Given the description of an element on the screen output the (x, y) to click on. 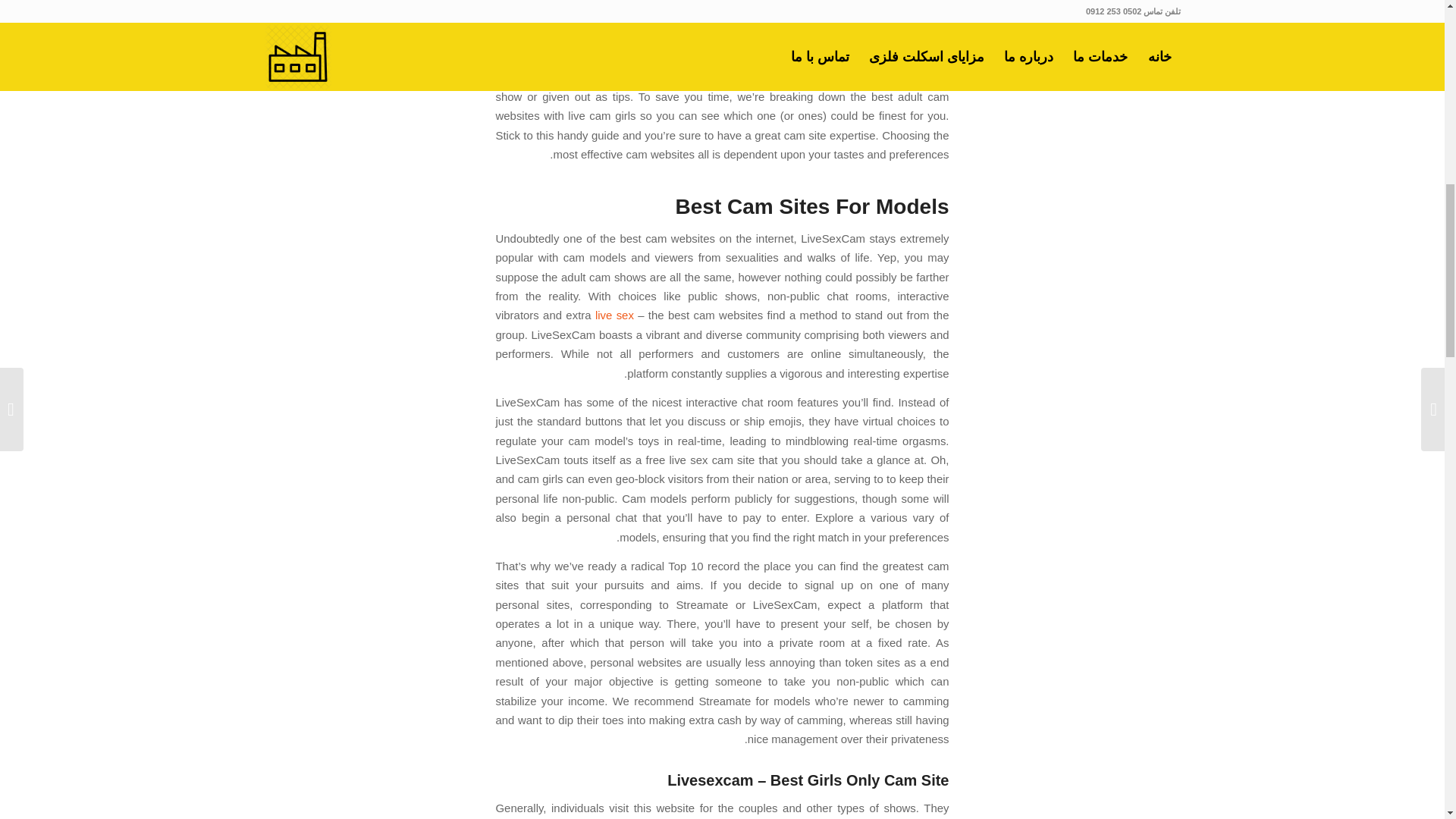
live sex (616, 314)
